Given the description of an element on the screen output the (x, y) to click on. 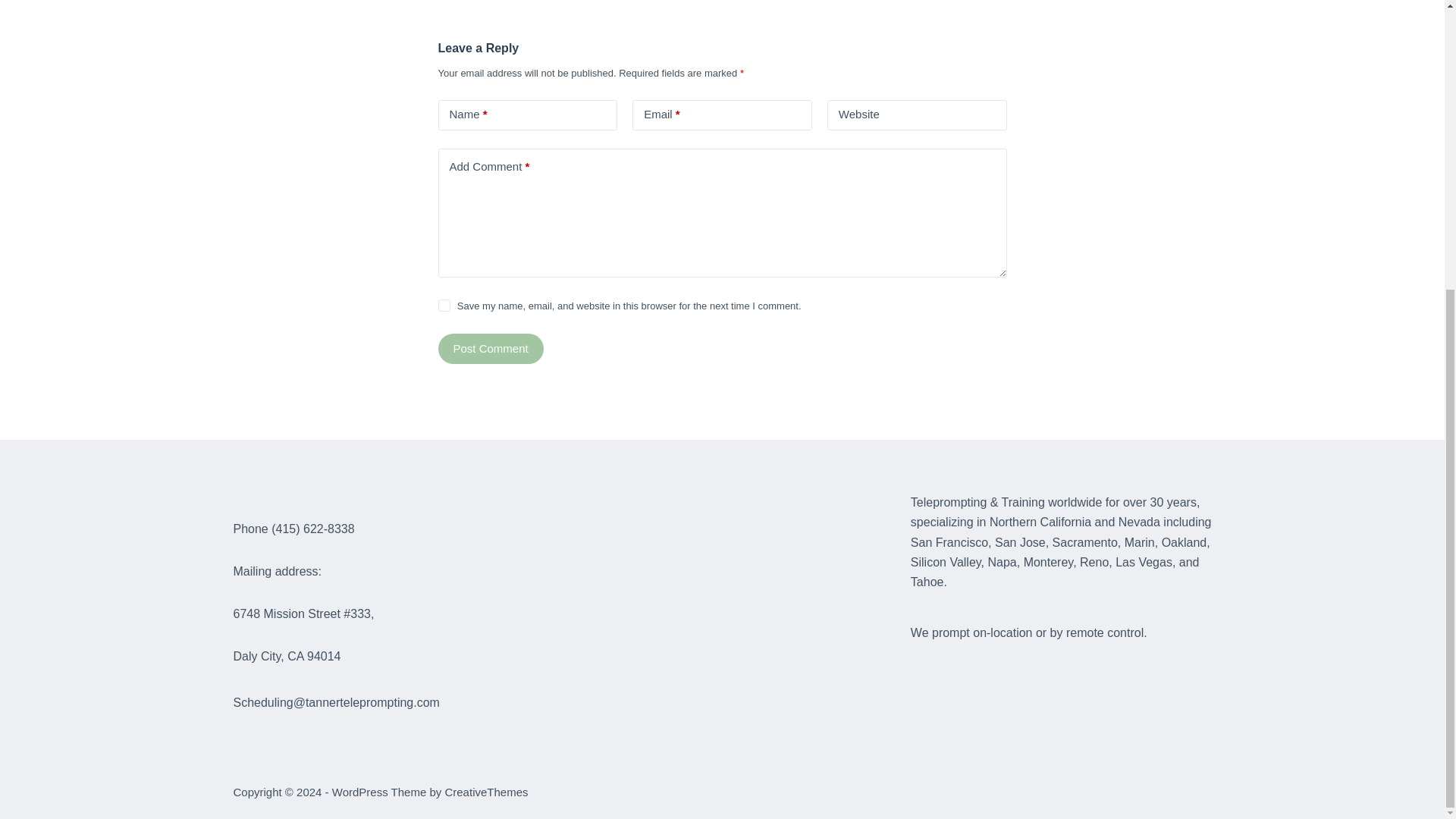
Post Comment (490, 348)
yes (443, 305)
CreativeThemes (485, 791)
